Given the description of an element on the screen output the (x, y) to click on. 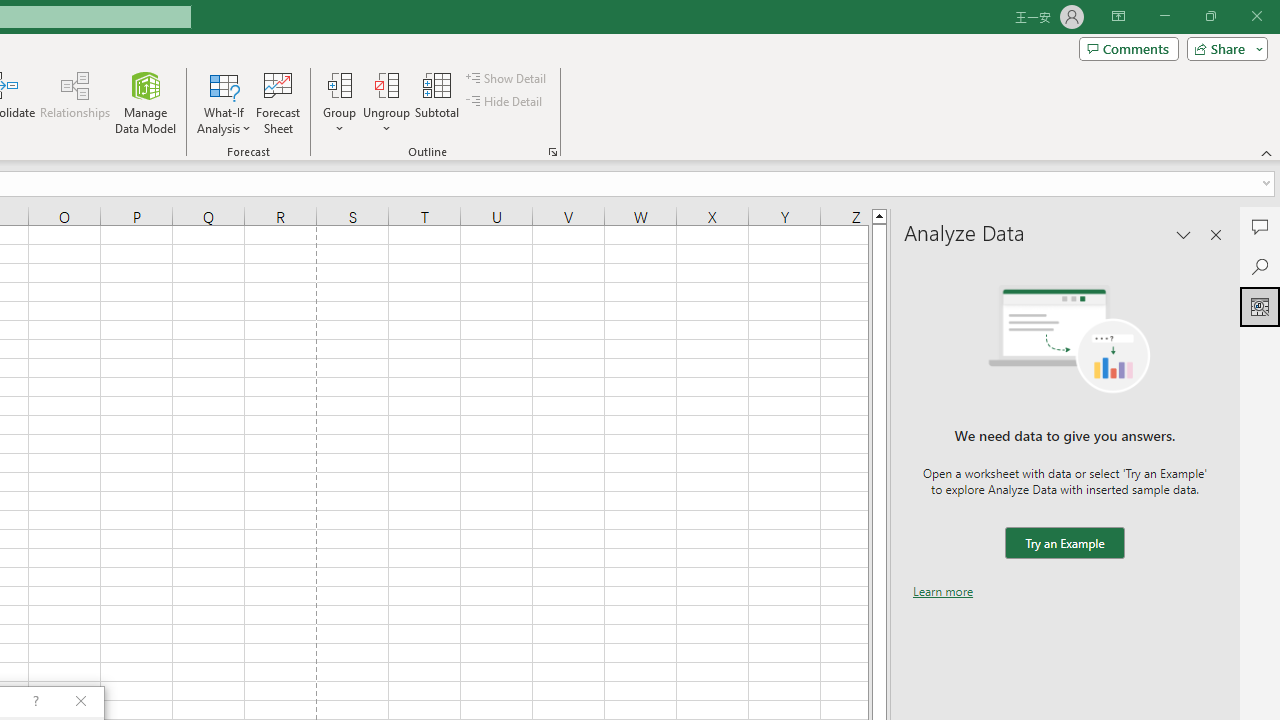
Relationships (75, 102)
We need data to give you answers. Try an Example (1064, 543)
